Given the description of an element on the screen output the (x, y) to click on. 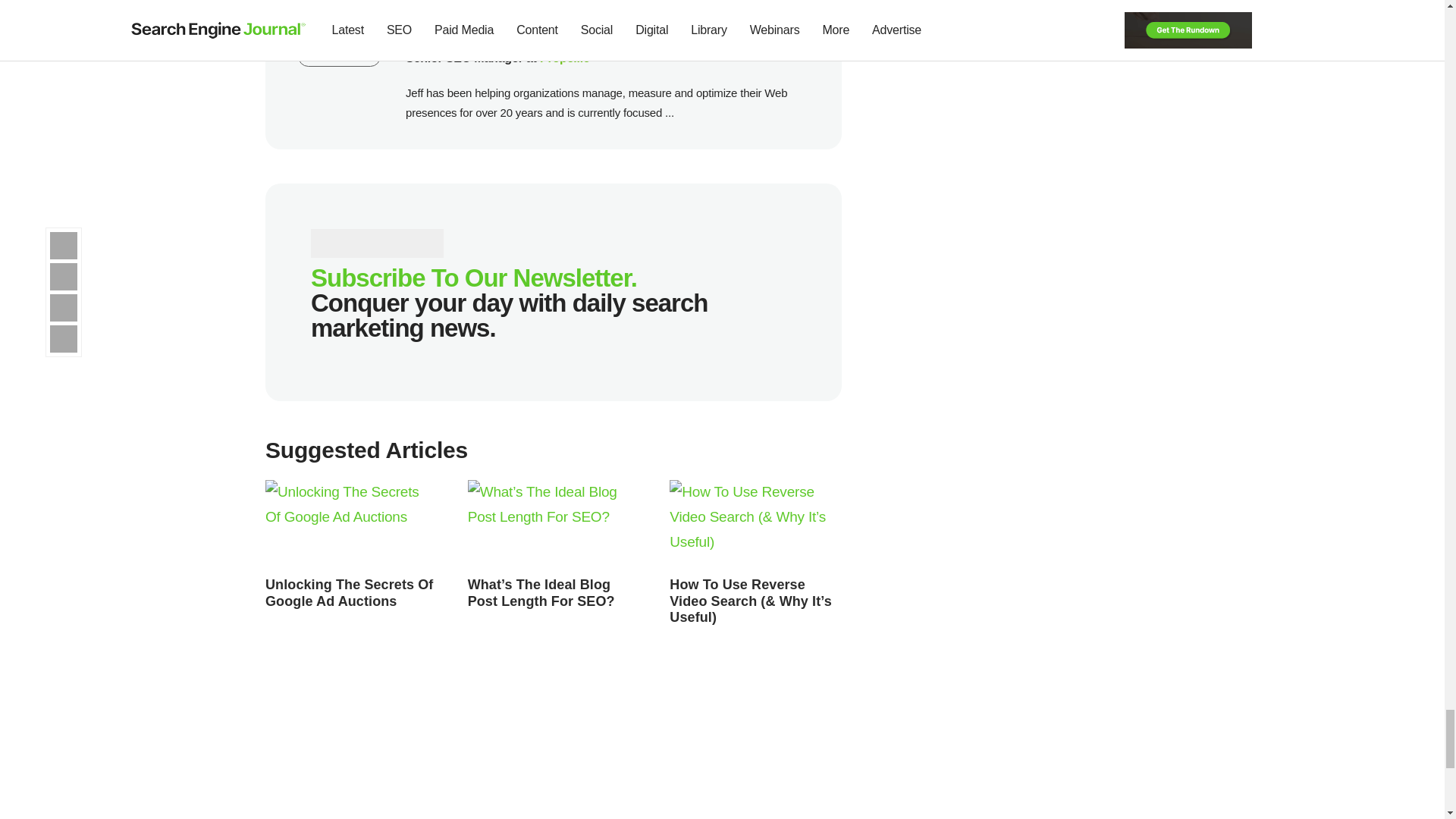
Read the Article (348, 593)
Read the Article (750, 600)
Read the Article (351, 524)
Read the Article (755, 524)
Read the Article (553, 524)
Read the Article (540, 593)
